Given the description of an element on the screen output the (x, y) to click on. 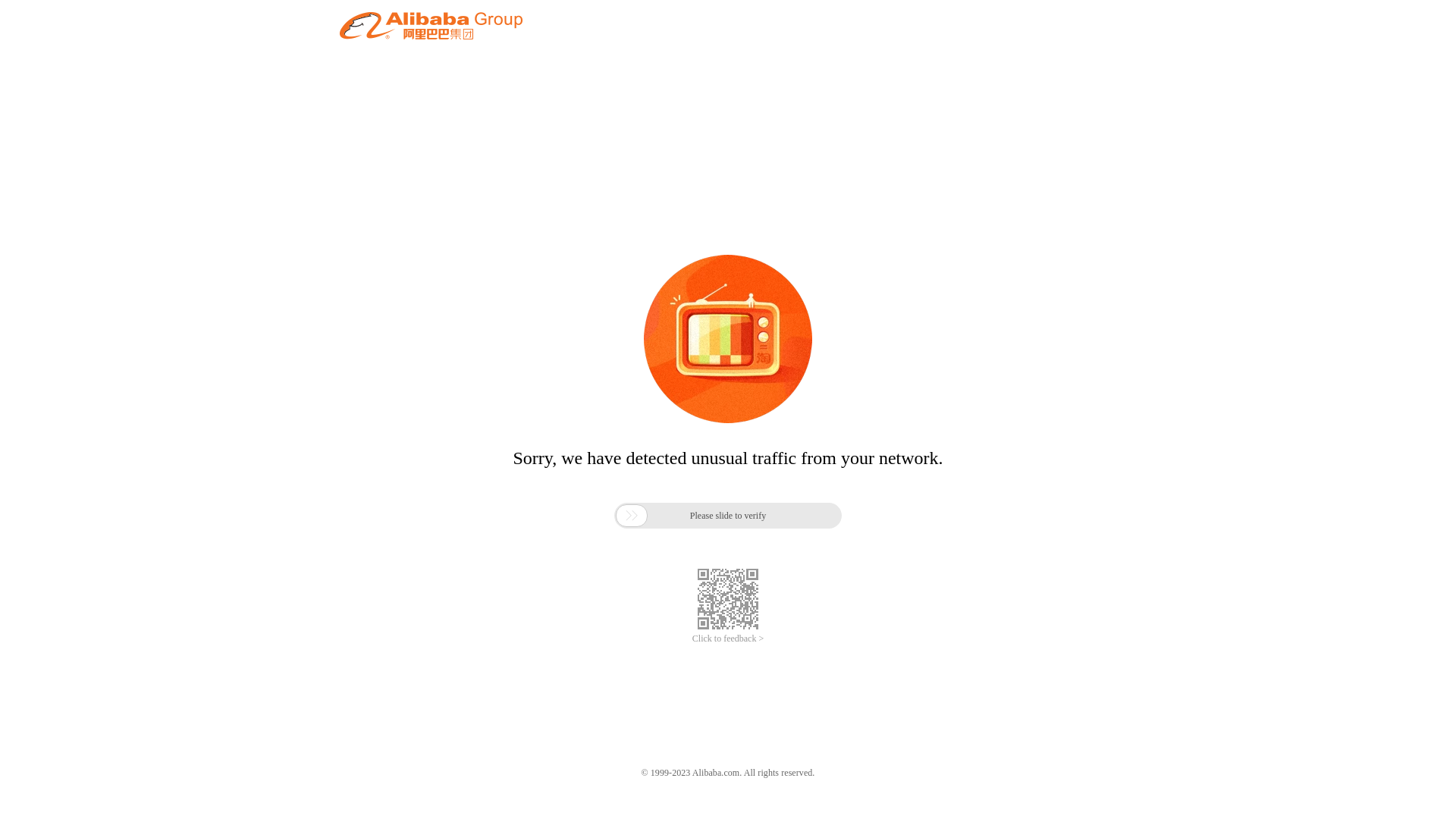
Click to feedback > Element type: text (727, 638)
